Given the description of an element on the screen output the (x, y) to click on. 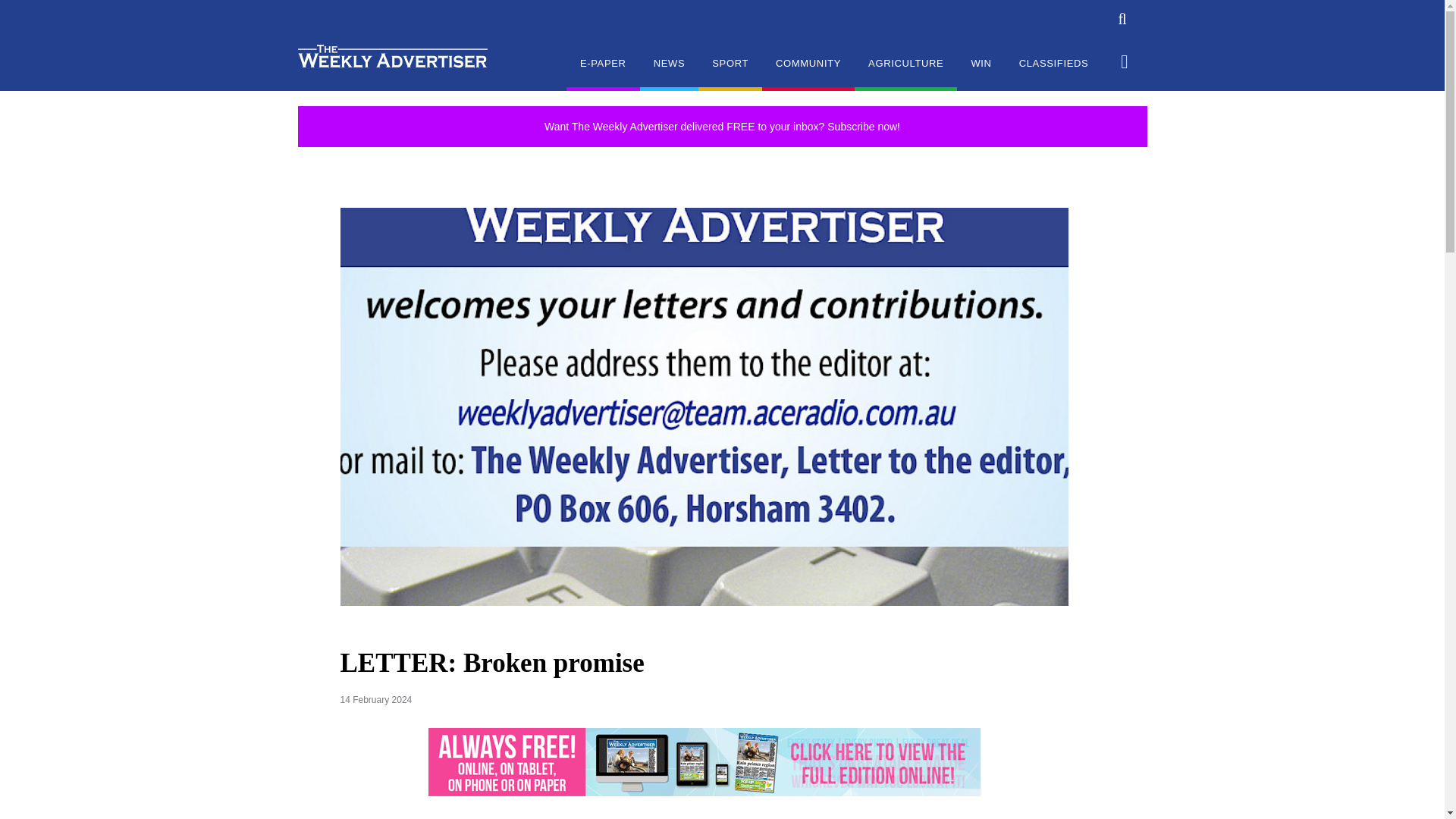
AGRICULTURE (905, 73)
CLASSIFIEDS (1054, 73)
COMMUNITY (807, 73)
E-PAPER (603, 73)
